Given the description of an element on the screen output the (x, y) to click on. 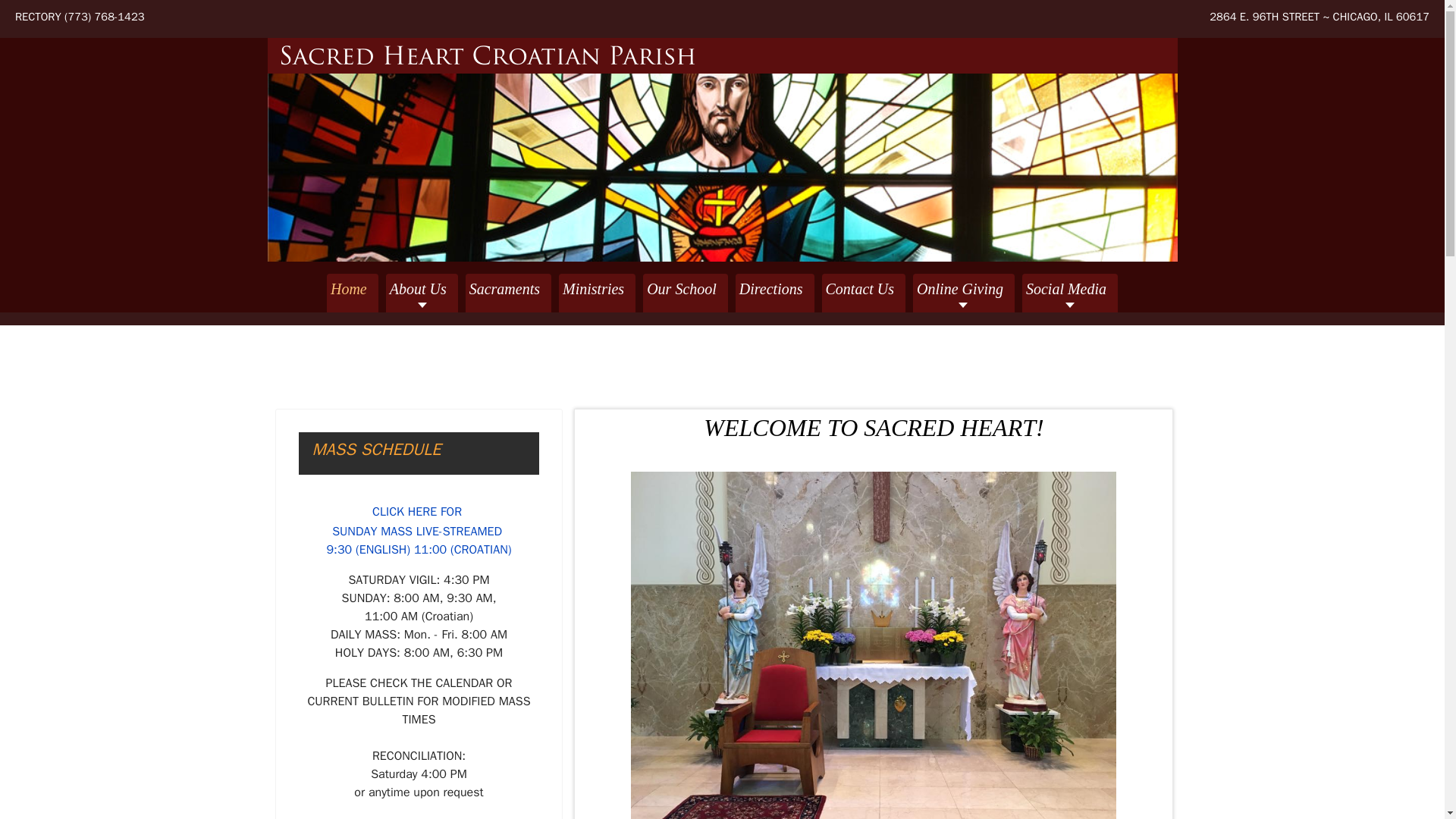
Home (352, 292)
Ministries (596, 292)
Our School (685, 292)
Contact Us (863, 292)
Sacraments (508, 292)
Directions (774, 292)
